Given the description of an element on the screen output the (x, y) to click on. 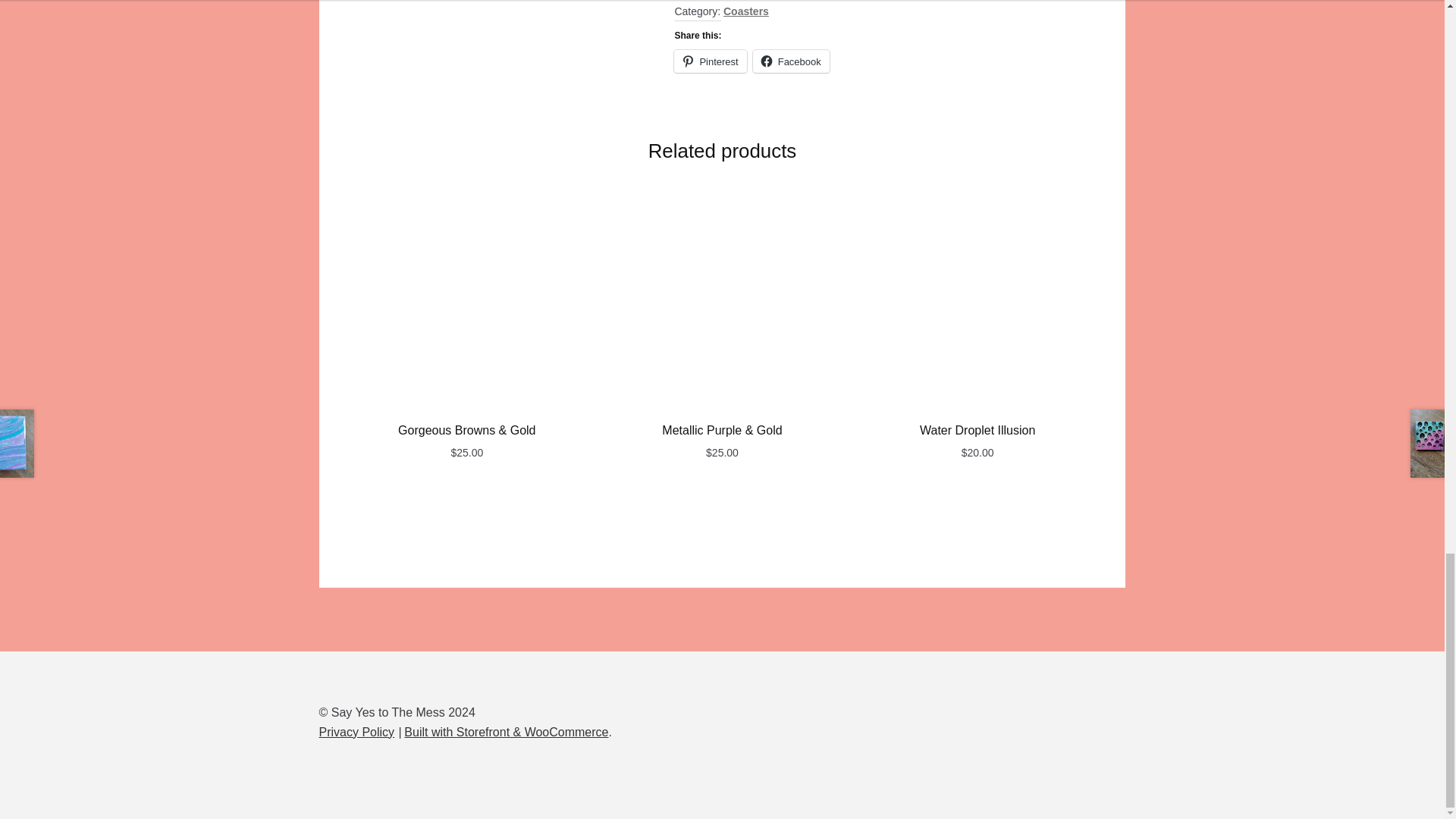
Click to share on Facebook (790, 60)
WooCommerce - The Best eCommerce Platform for WordPress (506, 731)
Click to share on Pinterest (709, 60)
